Given the description of an element on the screen output the (x, y) to click on. 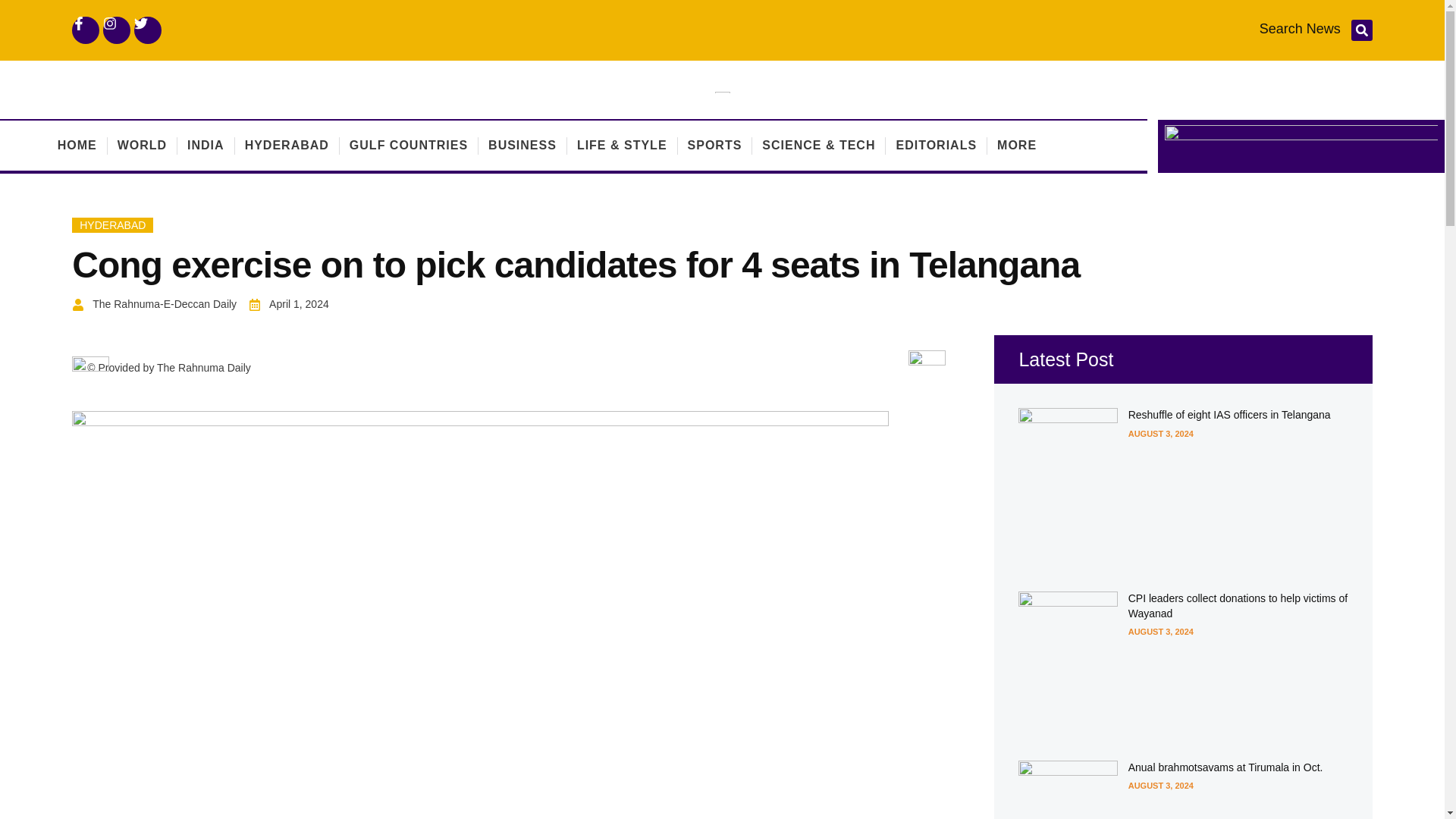
SPORTS (714, 145)
HYDERABAD (112, 224)
WORLD (142, 145)
EDITORIALS (935, 145)
HYDERABAD (286, 145)
BUSINESS (521, 145)
GULF COUNTRIES (408, 145)
